Given the description of an element on the screen output the (x, y) to click on. 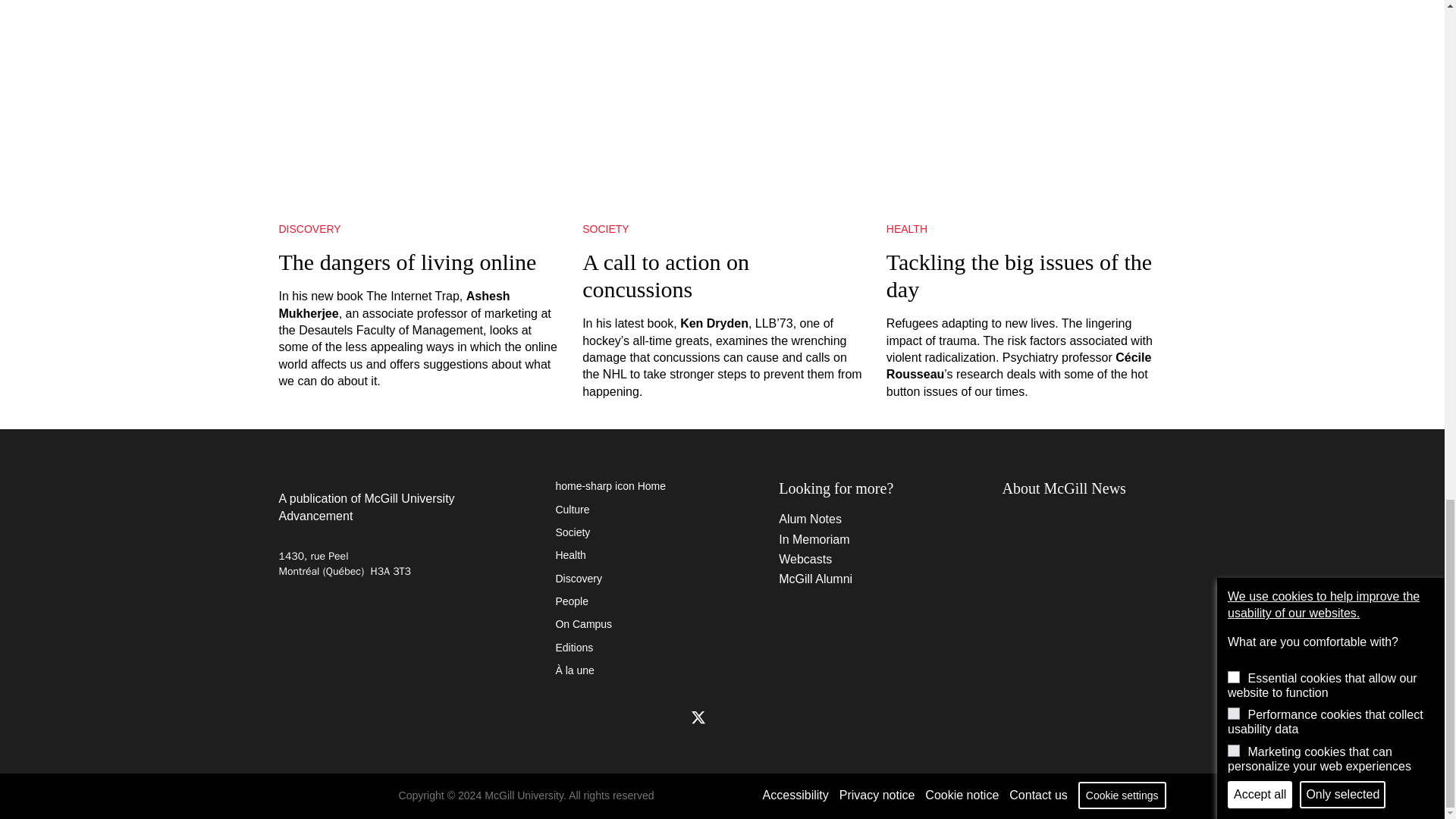
Tackling the big issues of the day (1026, 275)
HEALTH (1026, 228)
The dangers of living online (419, 104)
Tackling the big issues of the day (1026, 104)
DISCOVERY (419, 228)
SOCIETY (721, 228)
A call to action on concussions (721, 275)
A call to action on concussions (721, 104)
The dangers of living online (419, 262)
